Given the description of an element on the screen output the (x, y) to click on. 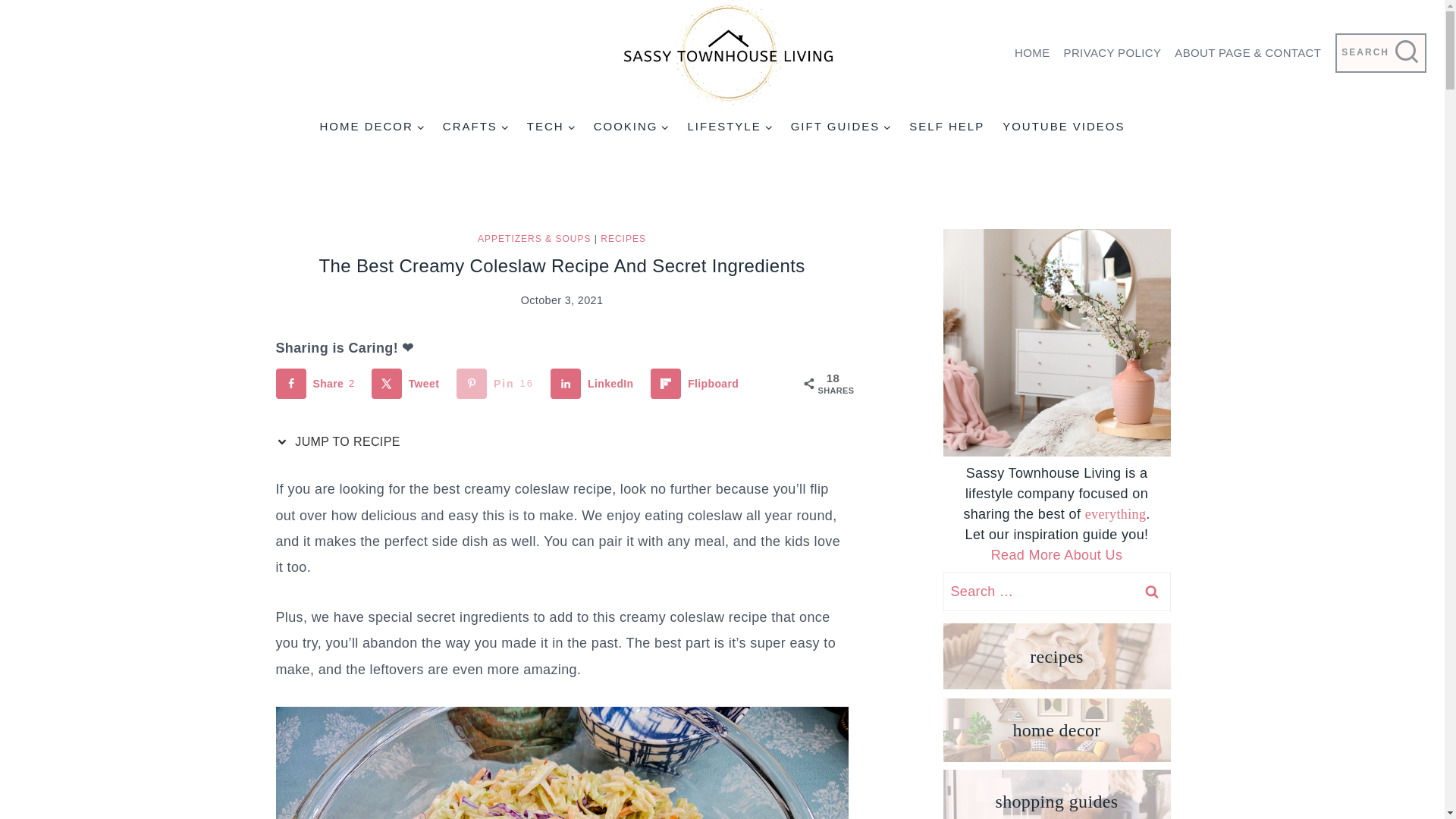
Share on Flipboard (697, 383)
HOME DECOR (371, 126)
Search (1151, 591)
Share on Facebook (318, 383)
PRIVACY POLICY (1113, 53)
HOME (1032, 53)
TECH (551, 126)
Share on X (408, 383)
LIFESTYLE (729, 126)
GIFT GUIDES (841, 126)
COOKING (631, 126)
SEARCH (1380, 52)
CRAFTS (475, 126)
Share on LinkedIn (595, 383)
Search (1151, 591)
